Given the description of an element on the screen output the (x, y) to click on. 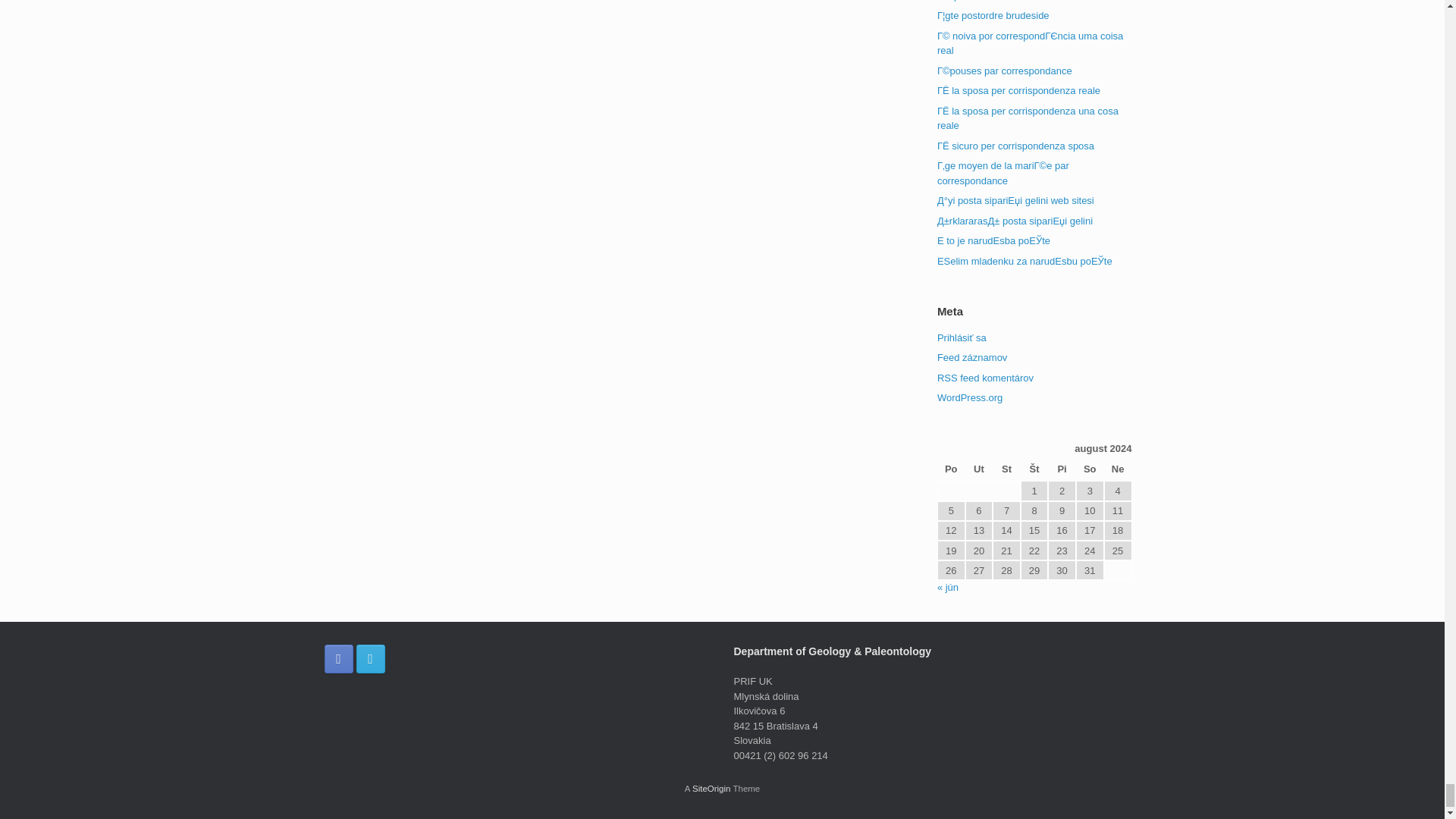
utorok (978, 470)
sobota (1089, 470)
pondelok (951, 470)
streda (1006, 470)
piatok (1061, 470)
